Given the description of an element on the screen output the (x, y) to click on. 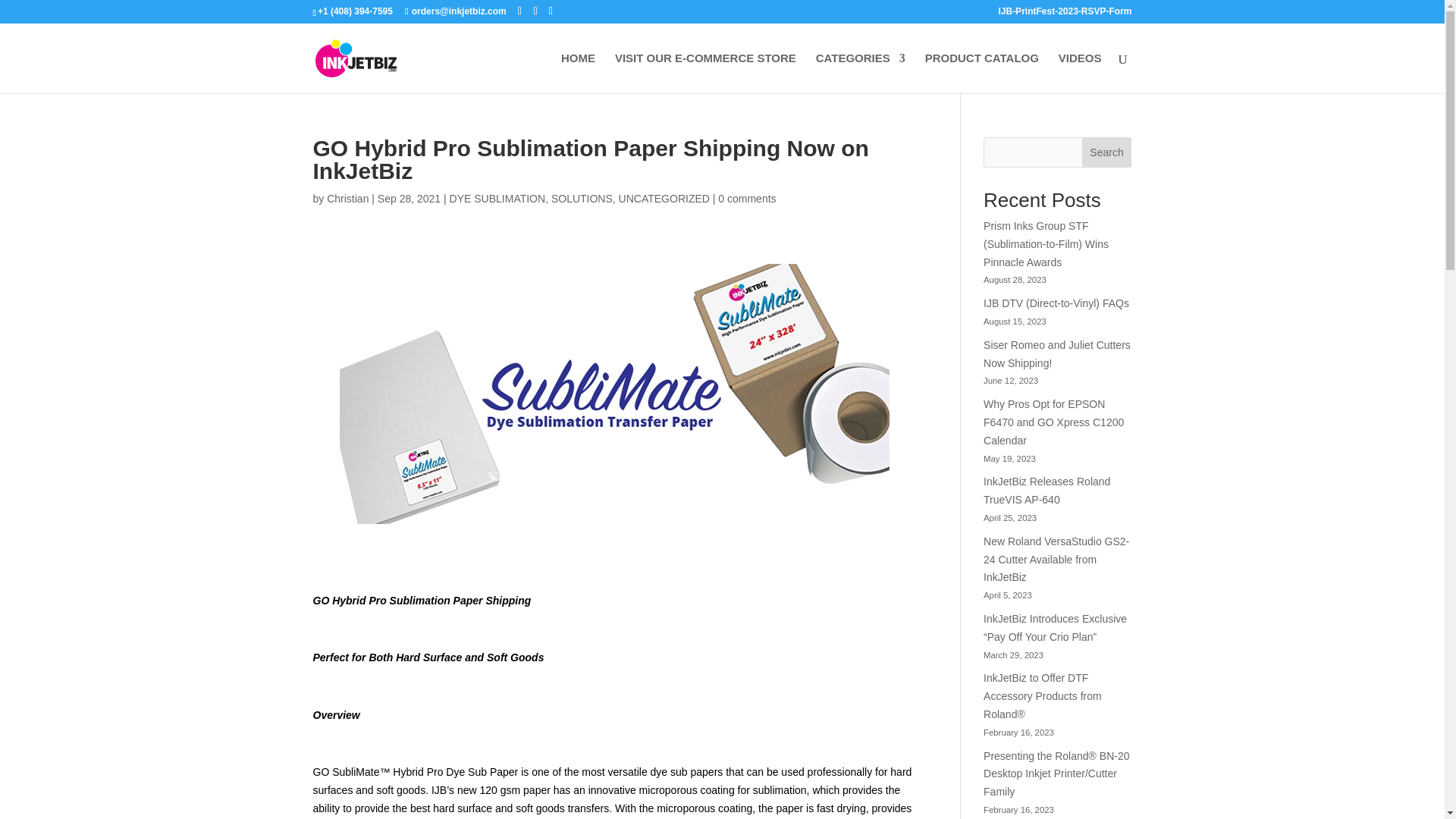
IJB-PrintFest-2023-RSVP-Form (1064, 14)
CATEGORIES (860, 73)
Posts by Christian (347, 198)
VISIT OUR E-COMMERCE STORE (705, 73)
VIDEOS (1080, 73)
PRODUCT CATALOG (981, 73)
